Given the description of an element on the screen output the (x, y) to click on. 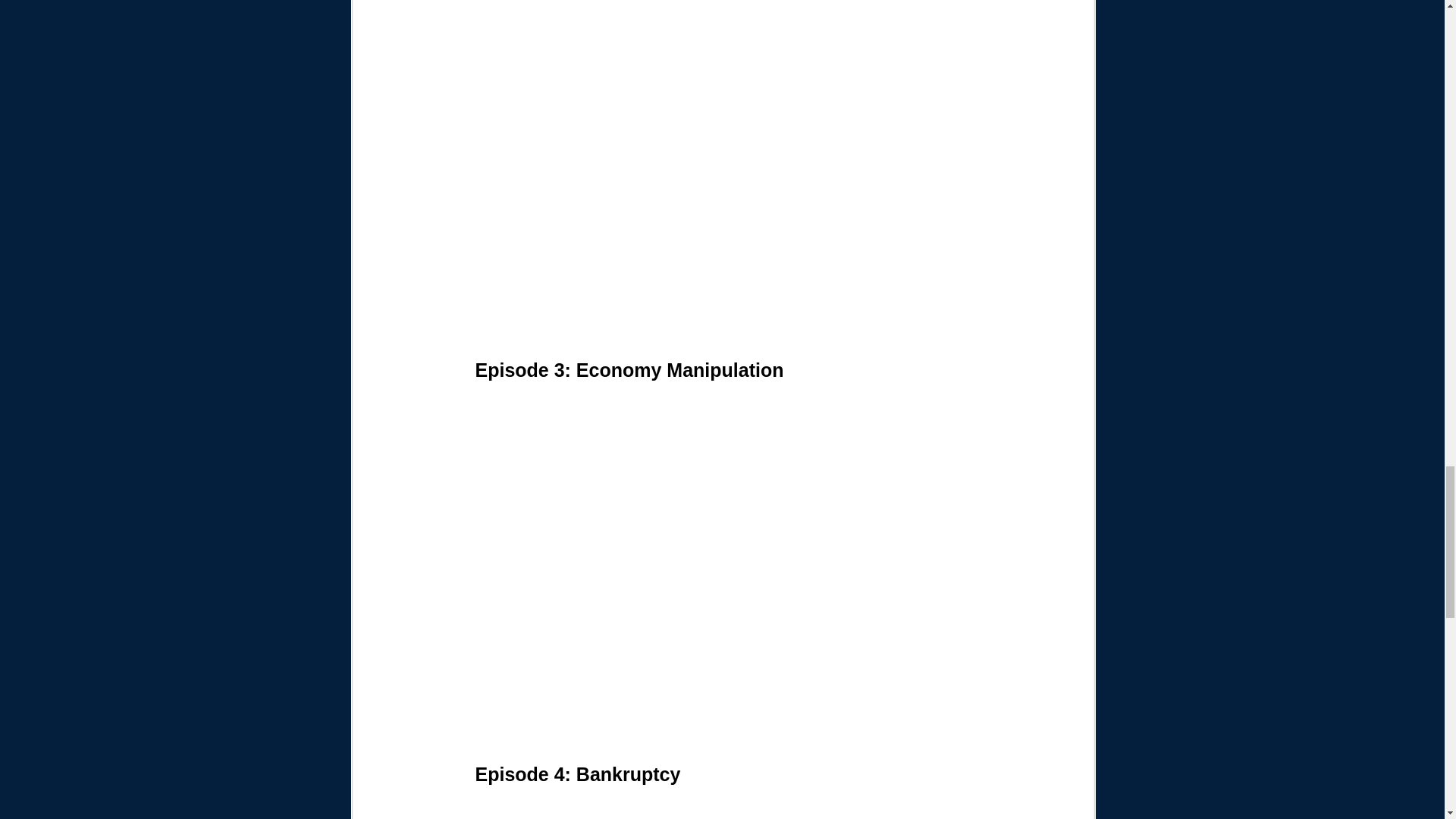
External YouTube (722, 807)
